Given the description of an element on the screen output the (x, y) to click on. 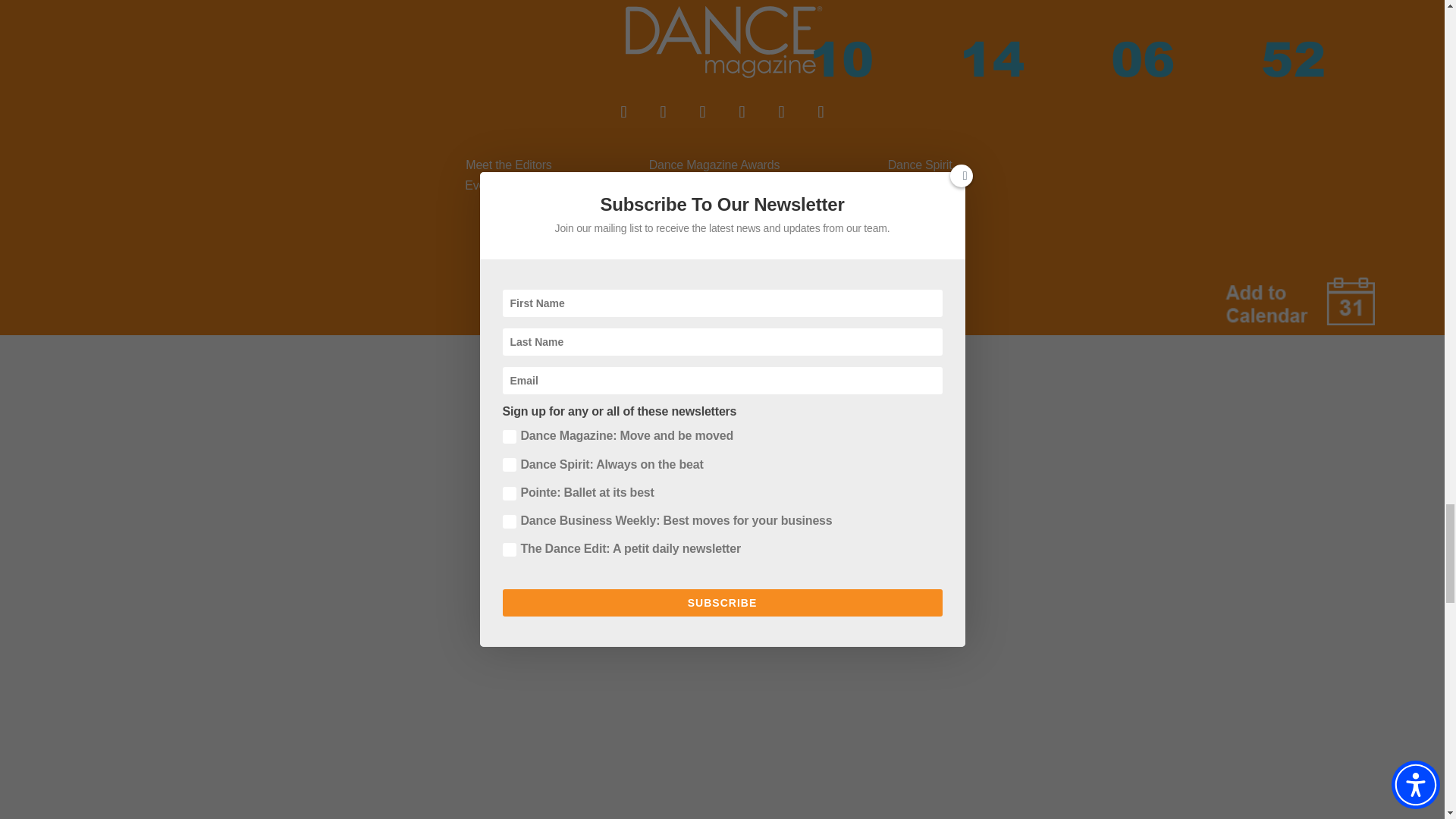
Follow on Instagram (702, 111)
Follow on Facebook (623, 111)
Follow on Twitter (662, 111)
